Given the description of an element on the screen output the (x, y) to click on. 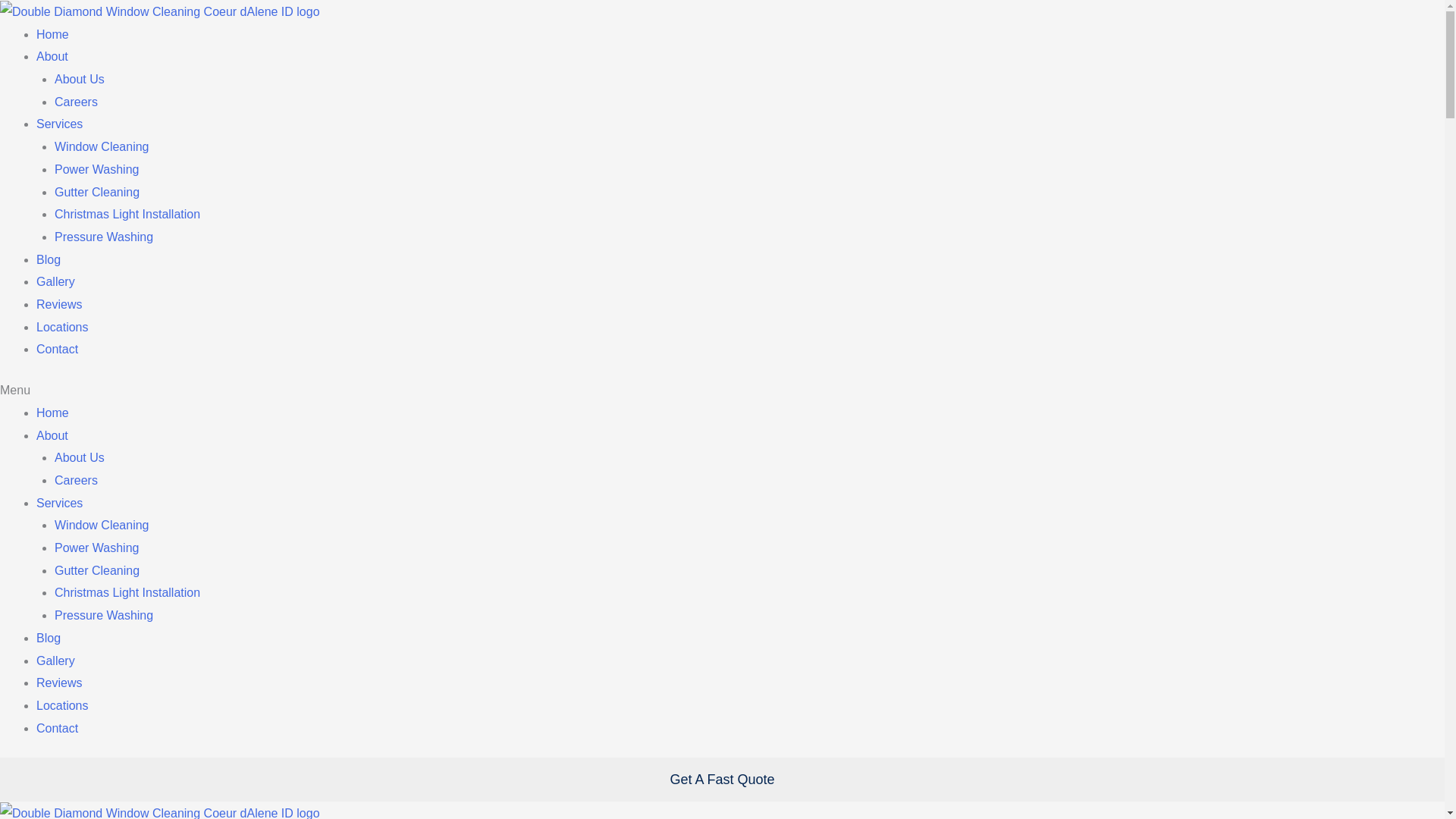
Reviews (58, 682)
Gallery (55, 660)
Power Washing (96, 169)
Christmas Light Installation (127, 214)
Christmas Light Installation (127, 592)
Pressure Washing (103, 236)
Blog (48, 637)
Blog (48, 259)
Power Washing (96, 547)
Services (59, 123)
